Given the description of an element on the screen output the (x, y) to click on. 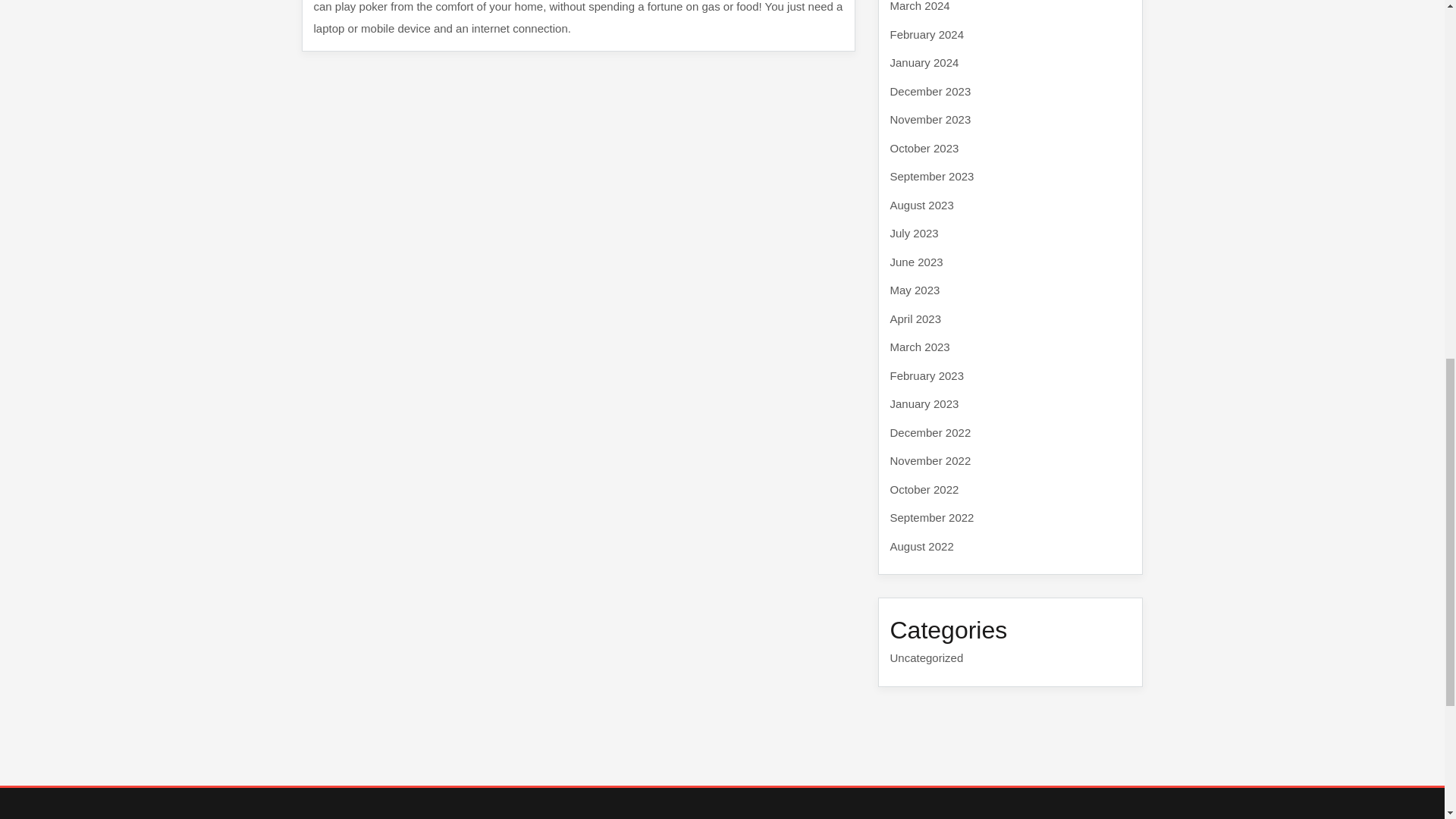
February 2024 (926, 33)
December 2023 (930, 91)
July 2023 (914, 232)
April 2023 (915, 318)
September 2023 (931, 175)
August 2023 (921, 205)
October 2023 (924, 146)
May 2023 (914, 289)
June 2023 (916, 260)
February 2023 (926, 374)
December 2022 (930, 431)
March 2024 (919, 6)
October 2022 (924, 488)
March 2023 (919, 346)
November 2022 (930, 460)
